Given the description of an element on the screen output the (x, y) to click on. 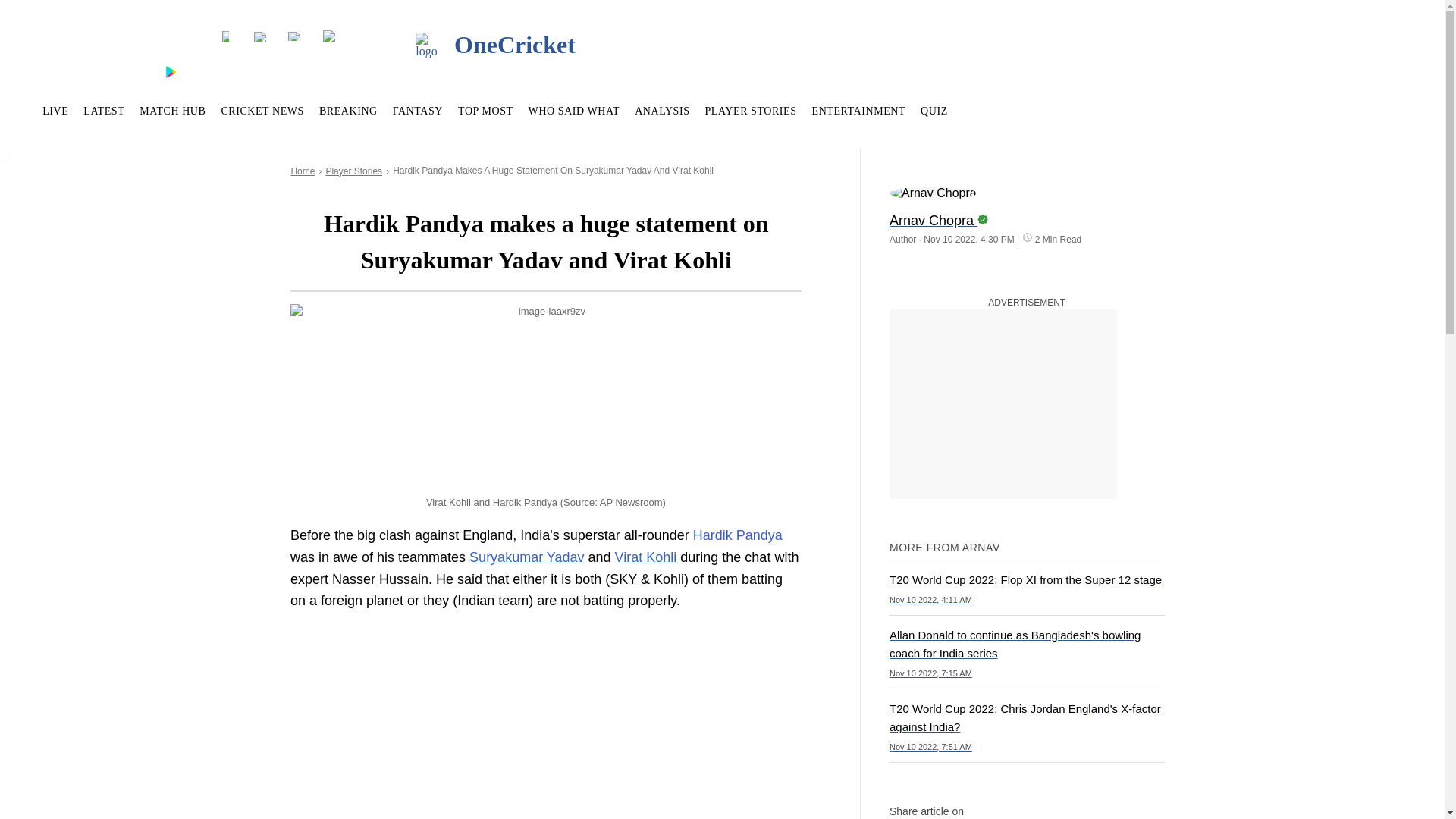
QUIZ (933, 111)
LATEST (102, 111)
Get App (115, 71)
PLAYER STORIES (750, 111)
Arnav Chopra (932, 192)
T20 World Cup 2022: Flop XI from the Super 12 stage (1026, 587)
BREAKING (347, 111)
Home (301, 171)
LIVE (55, 111)
OneCricket (465, 45)
ENTERTAINMENT (858, 111)
Arnav Chopra (1026, 214)
MATCH HUB (172, 111)
Hardik Pandya (738, 534)
